Given the description of an element on the screen output the (x, y) to click on. 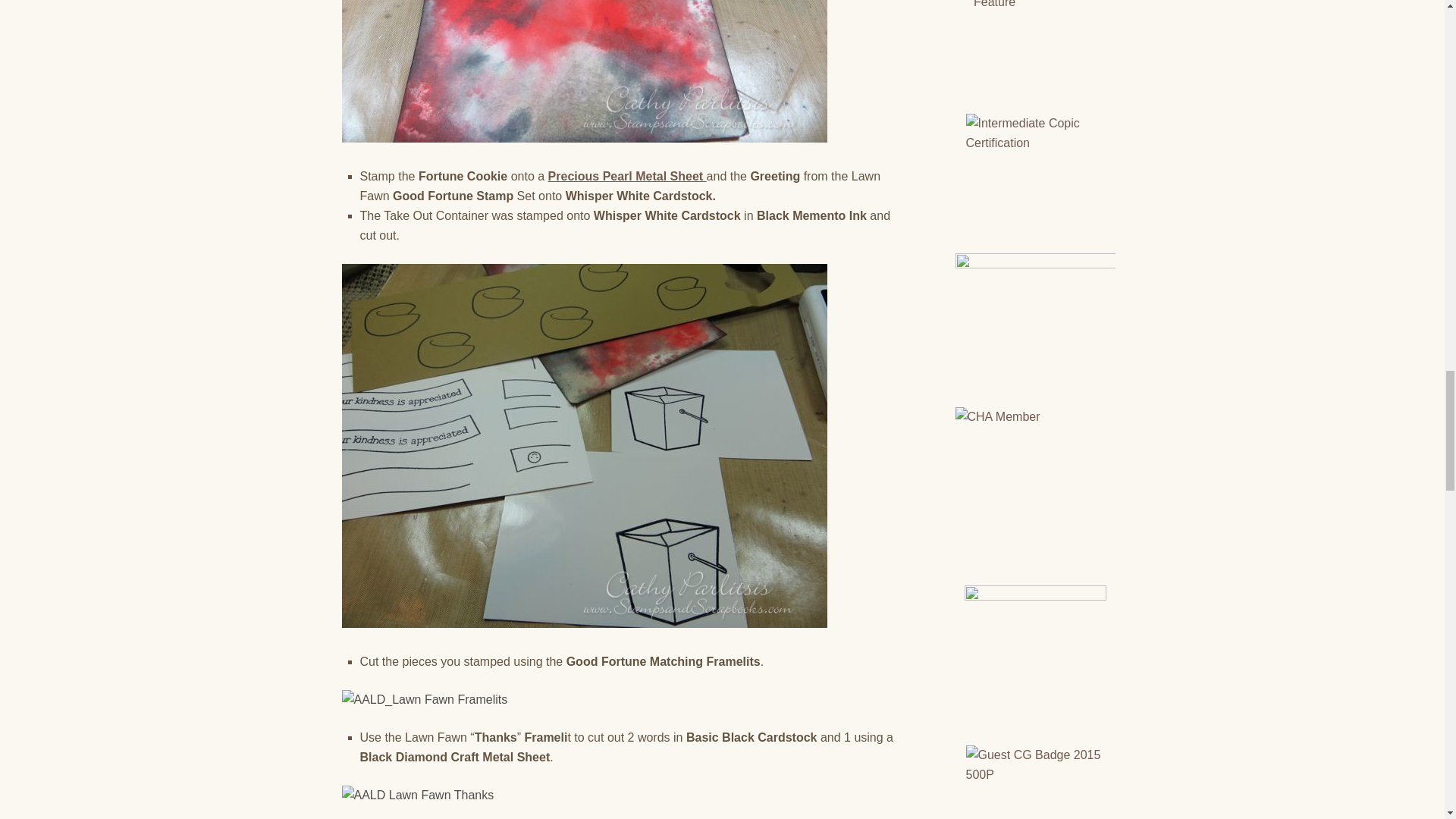
Precious Pearl Metal Sheet  (627, 175)
